Given the description of an element on the screen output the (x, y) to click on. 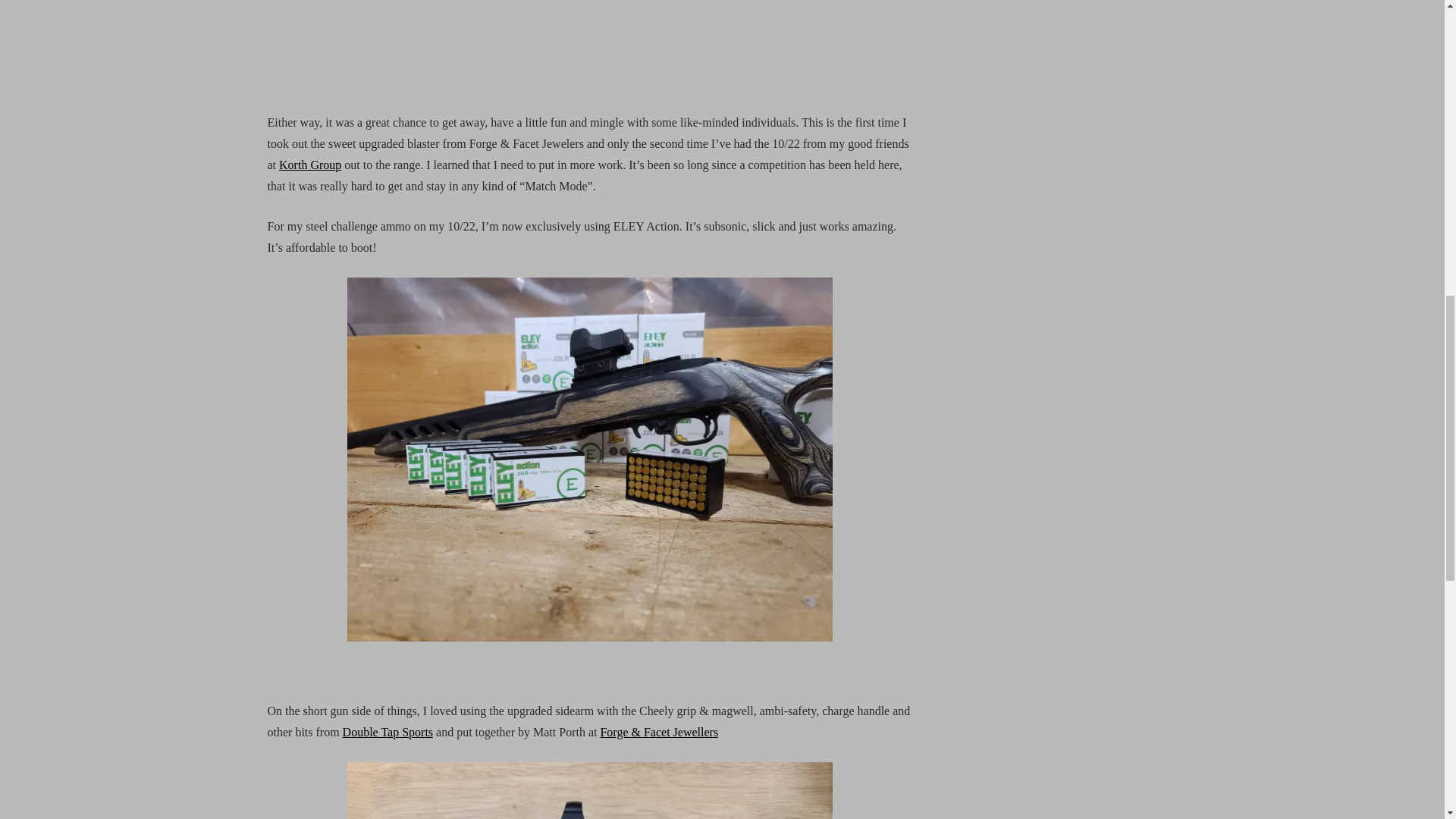
Korth Group (309, 164)
Double Tap Sports (387, 731)
YouTube video player (589, 43)
